Given the description of an element on the screen output the (x, y) to click on. 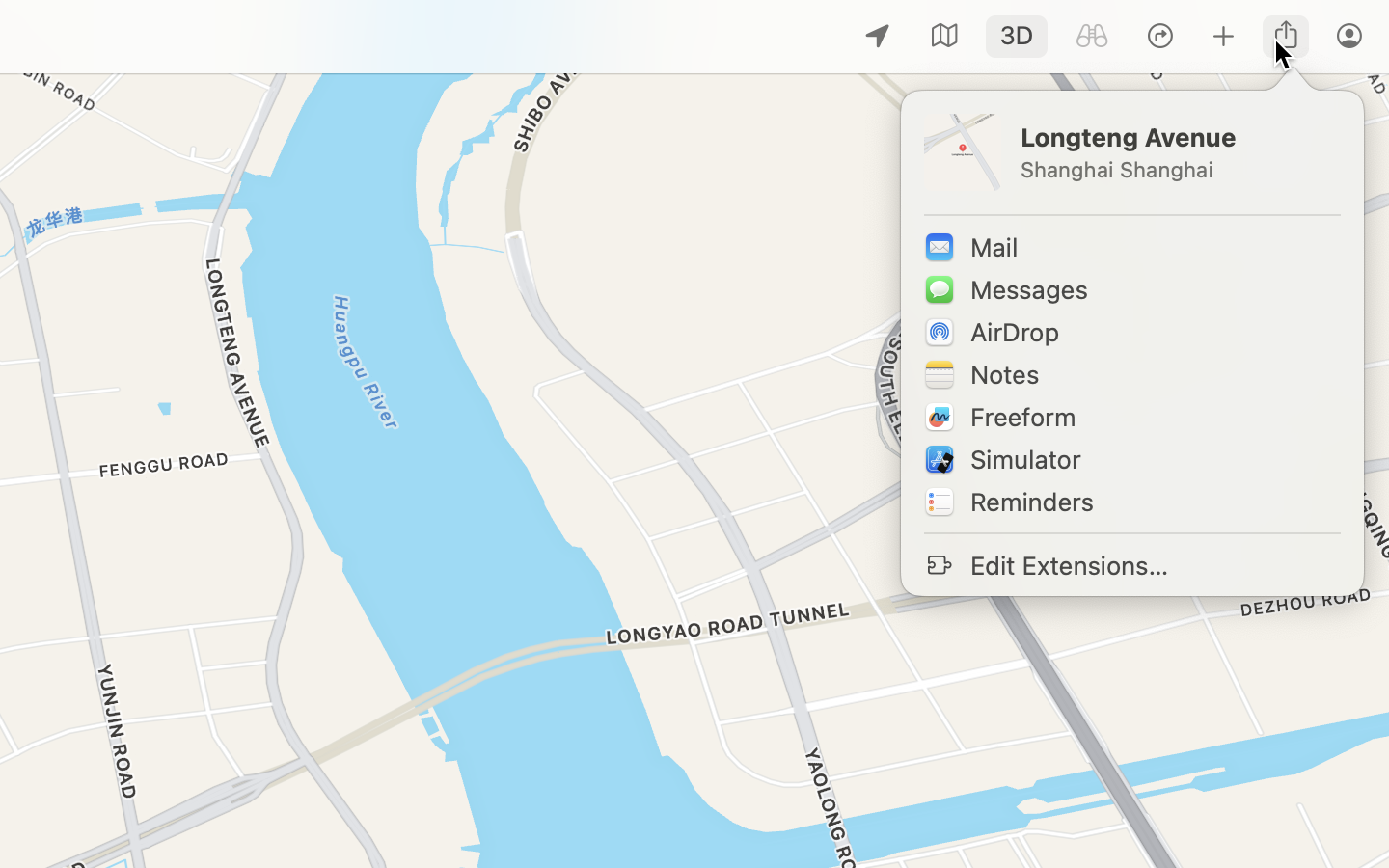
Longteng Avenue Element type: AXStaticText (1178, 136)
1 Element type: AXCheckBox (1016, 36)
0 Element type: AXCheckBox (1091, 36)
Shanghai Shanghai Element type: AXStaticText (1178, 169)
